Given the description of an element on the screen output the (x, y) to click on. 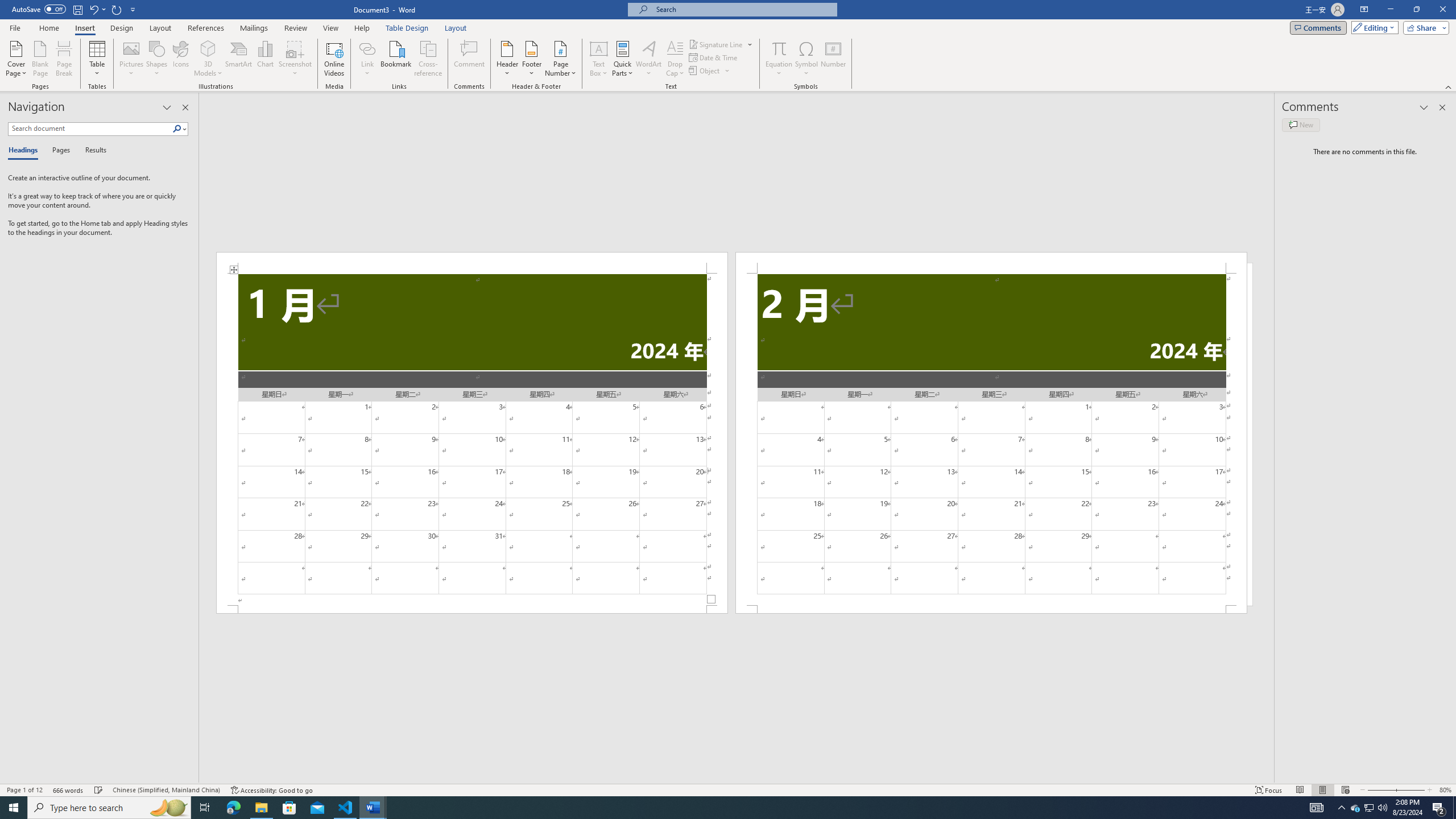
Table (97, 58)
Signature Line (721, 44)
Page Break (63, 58)
Page 2 content (991, 439)
Signature Line (716, 44)
Link (367, 58)
Cross-reference... (428, 58)
3D Models (208, 48)
Quick Parts (622, 58)
Number... (833, 58)
